Given the description of an element on the screen output the (x, y) to click on. 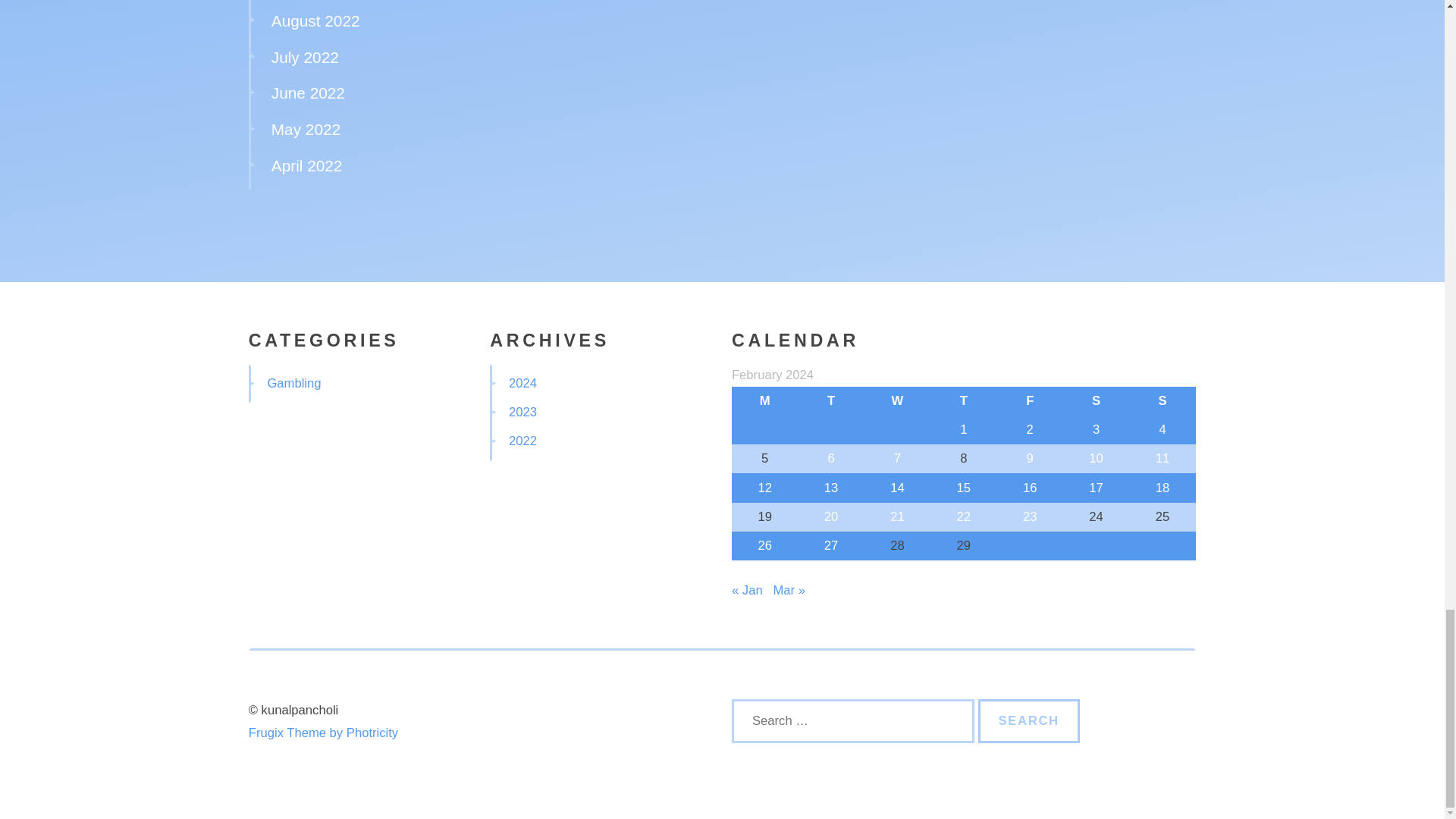
April 2022 (306, 165)
August 2022 (314, 20)
Sunday (1162, 400)
Search (1029, 720)
Wednesday (897, 400)
May 2022 (305, 129)
Saturday (1095, 400)
Friday (1029, 400)
Thursday (962, 400)
Search (1029, 720)
Monday (764, 400)
Gambling (293, 382)
Tuesday (830, 400)
June 2022 (307, 92)
July 2022 (304, 57)
